Given the description of an element on the screen output the (x, y) to click on. 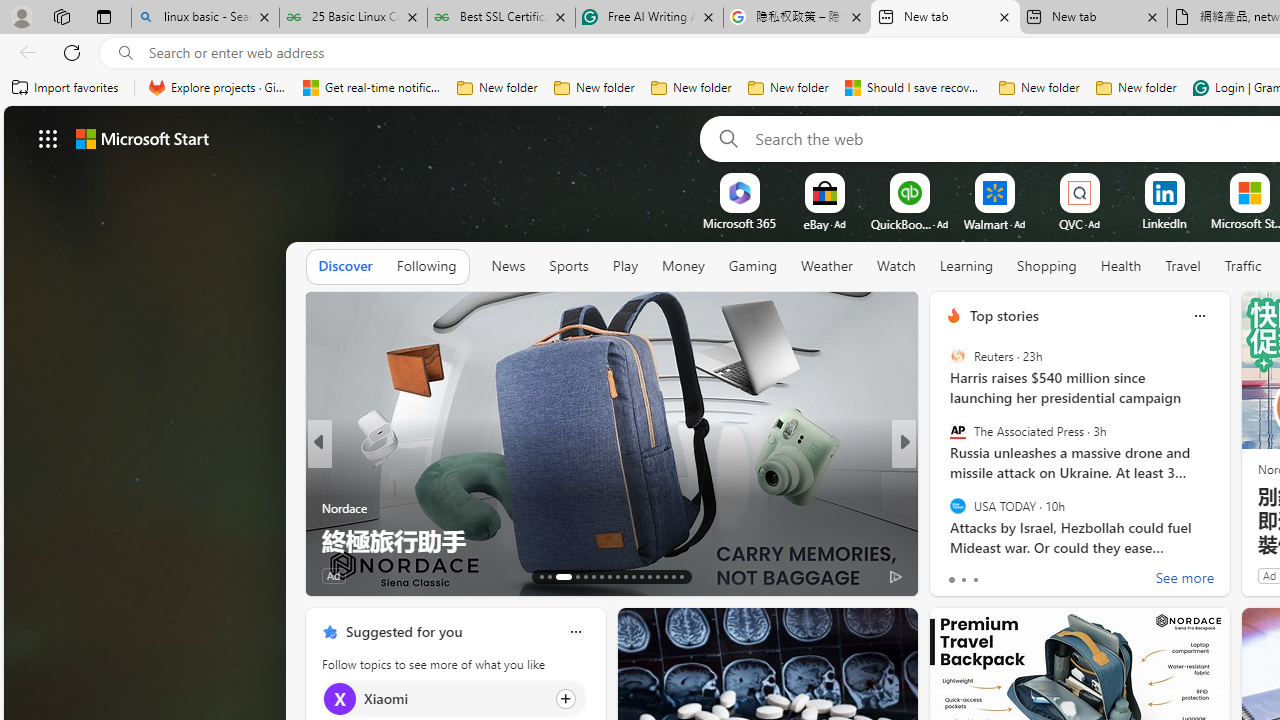
View comments 70 Comment (1042, 575)
Search icon (125, 53)
182 Like (959, 574)
AutomationID: tab-28 (673, 576)
Microsoft start (142, 138)
Newsweek (944, 475)
AutomationID: tab-17 (585, 576)
9 Like (952, 574)
